Given the description of an element on the screen output the (x, y) to click on. 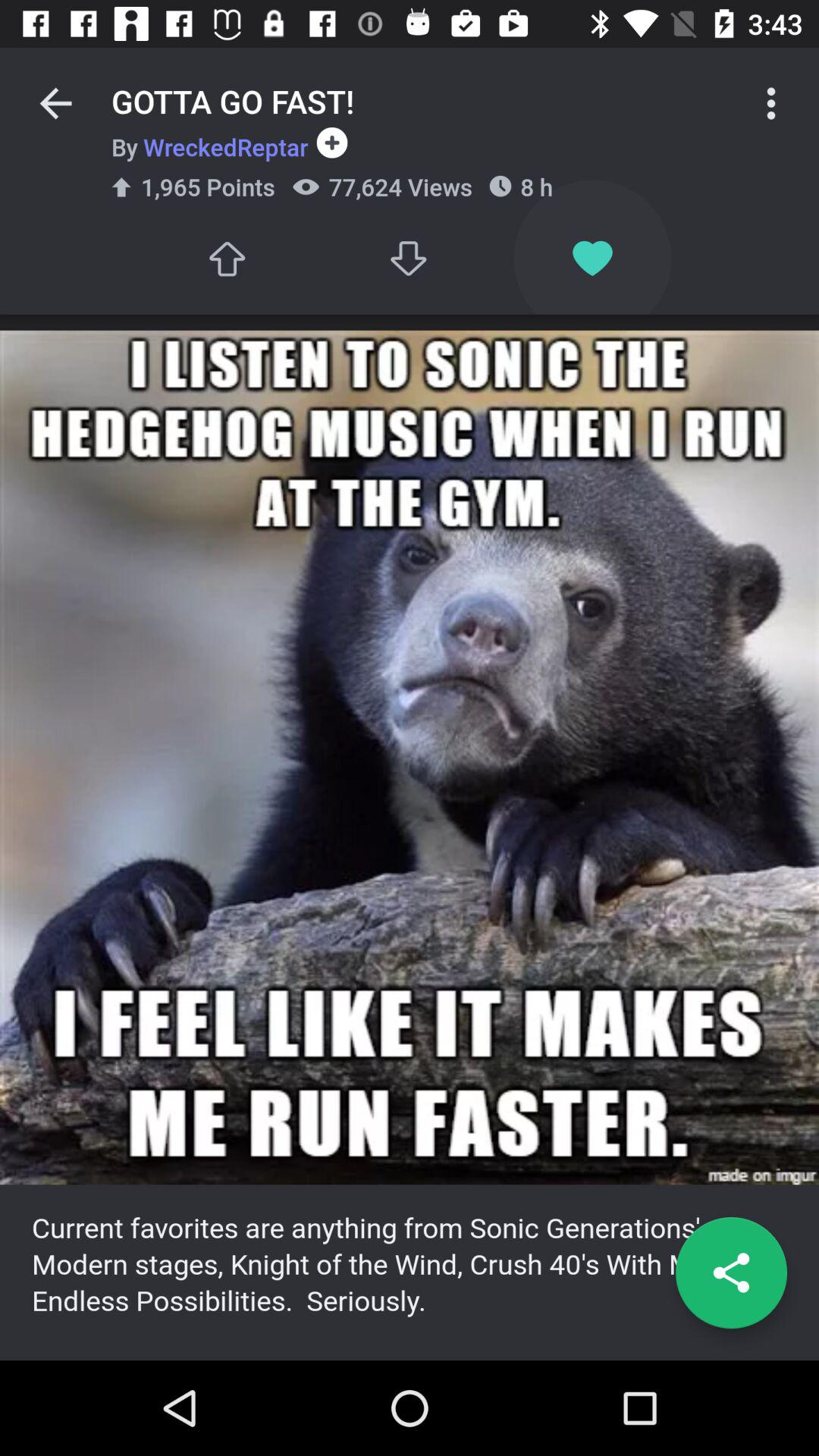
other options (771, 103)
